Given the description of an element on the screen output the (x, y) to click on. 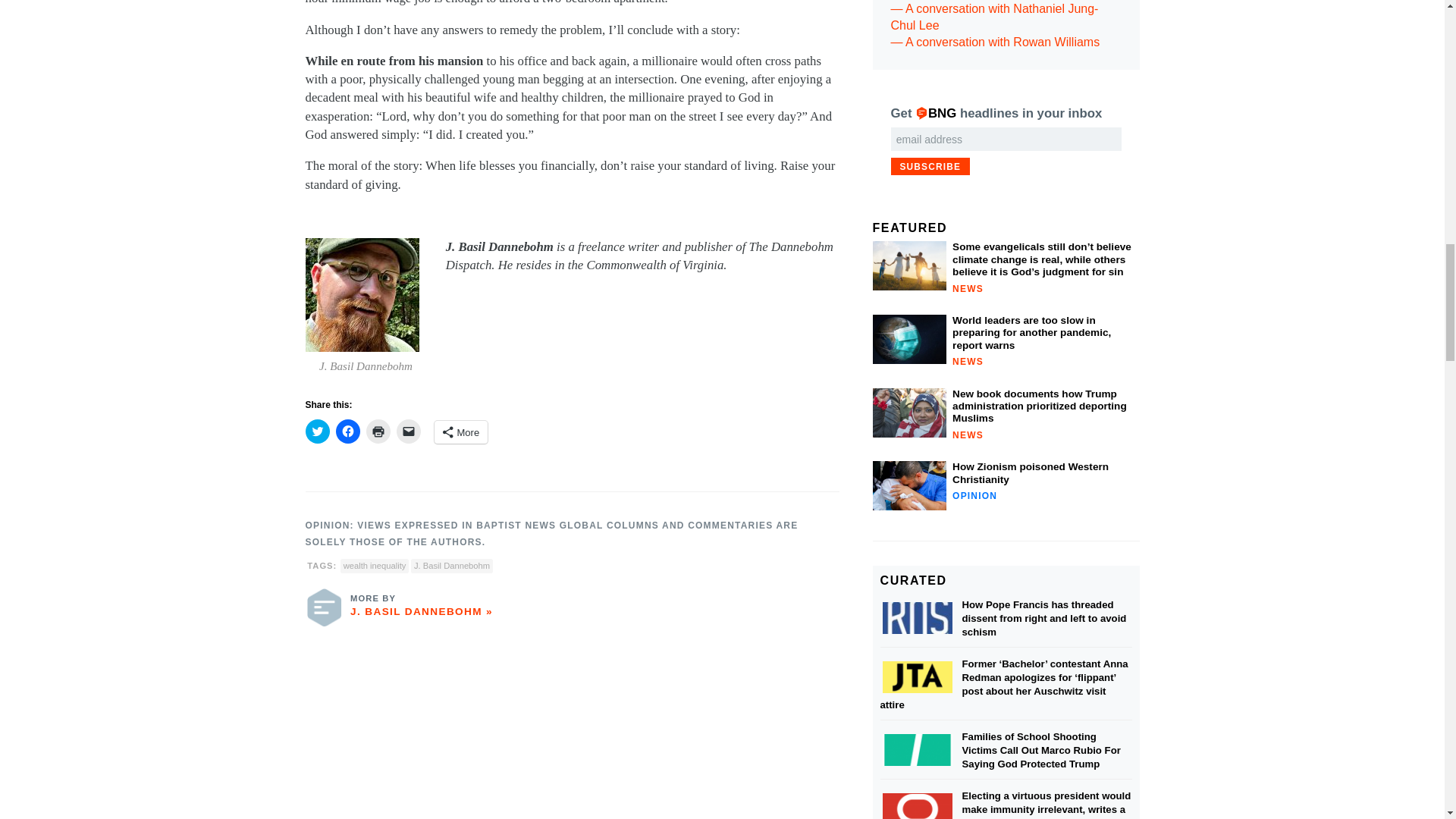
Click to print (377, 431)
Subscribe (929, 167)
Click to email a link to a friend (408, 431)
Click to share on Facebook (346, 431)
Click to share on Twitter (316, 431)
